Given the description of an element on the screen output the (x, y) to click on. 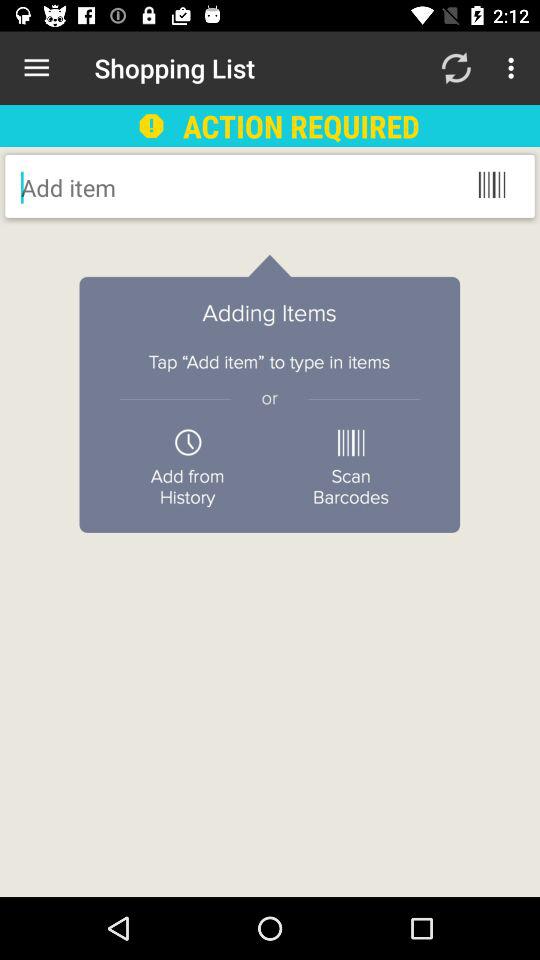
search bar (181, 187)
